Given the description of an element on the screen output the (x, y) to click on. 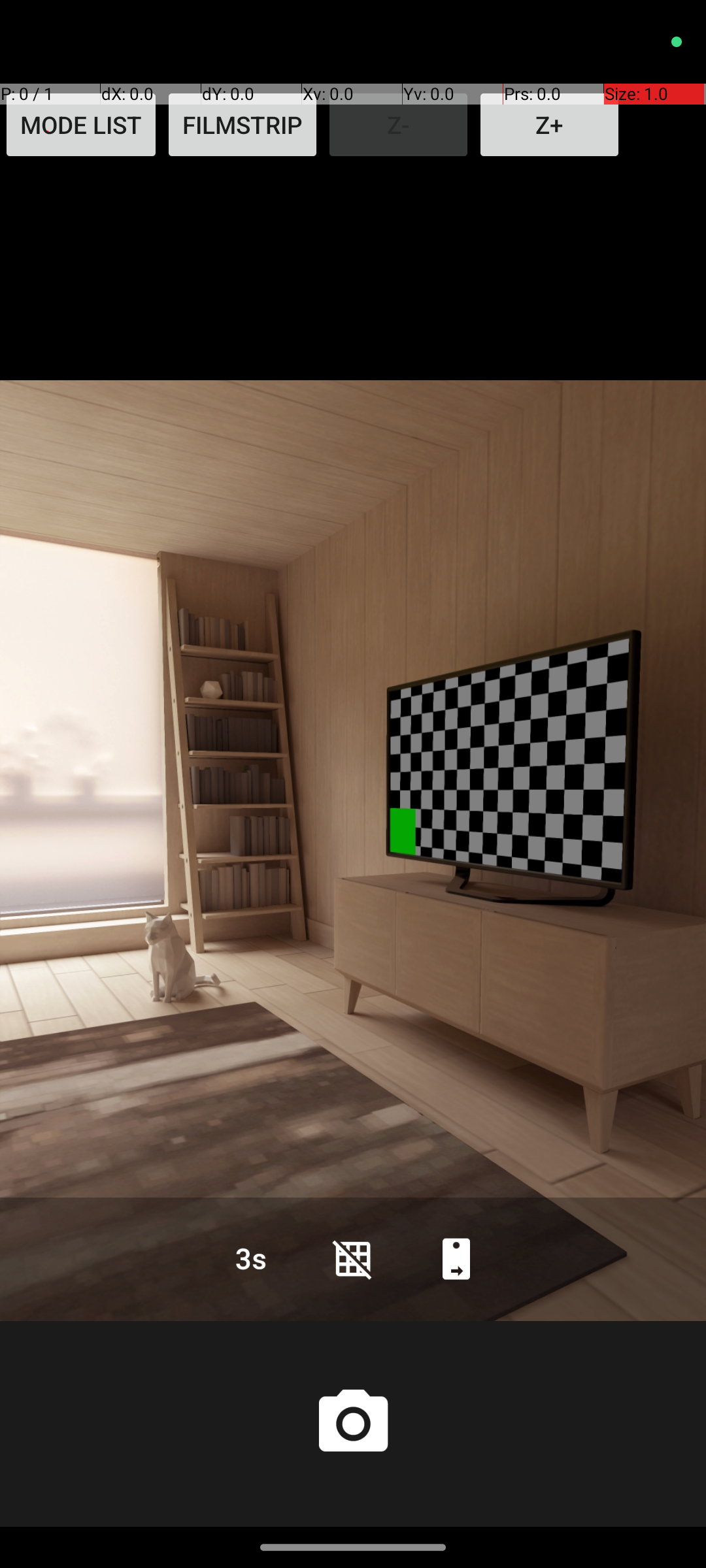
Shutter Element type: android.widget.ImageView (353, 1423)
MODE LIST Element type: android.widget.Button (81, 124)
FILMSTRIP Element type: android.widget.Button (242, 124)
Z- Element type: android.widget.Button (397, 124)
Z+ Element type: android.widget.Button (548, 124)
Countdown timer duration is set to 3 seconds Element type: android.widget.ImageButton (249, 1258)
Grid lines off Element type: android.widget.ImageButton (352, 1258)
Back camera Element type: android.widget.ImageButton (456, 1258)
